Given the description of an element on the screen output the (x, y) to click on. 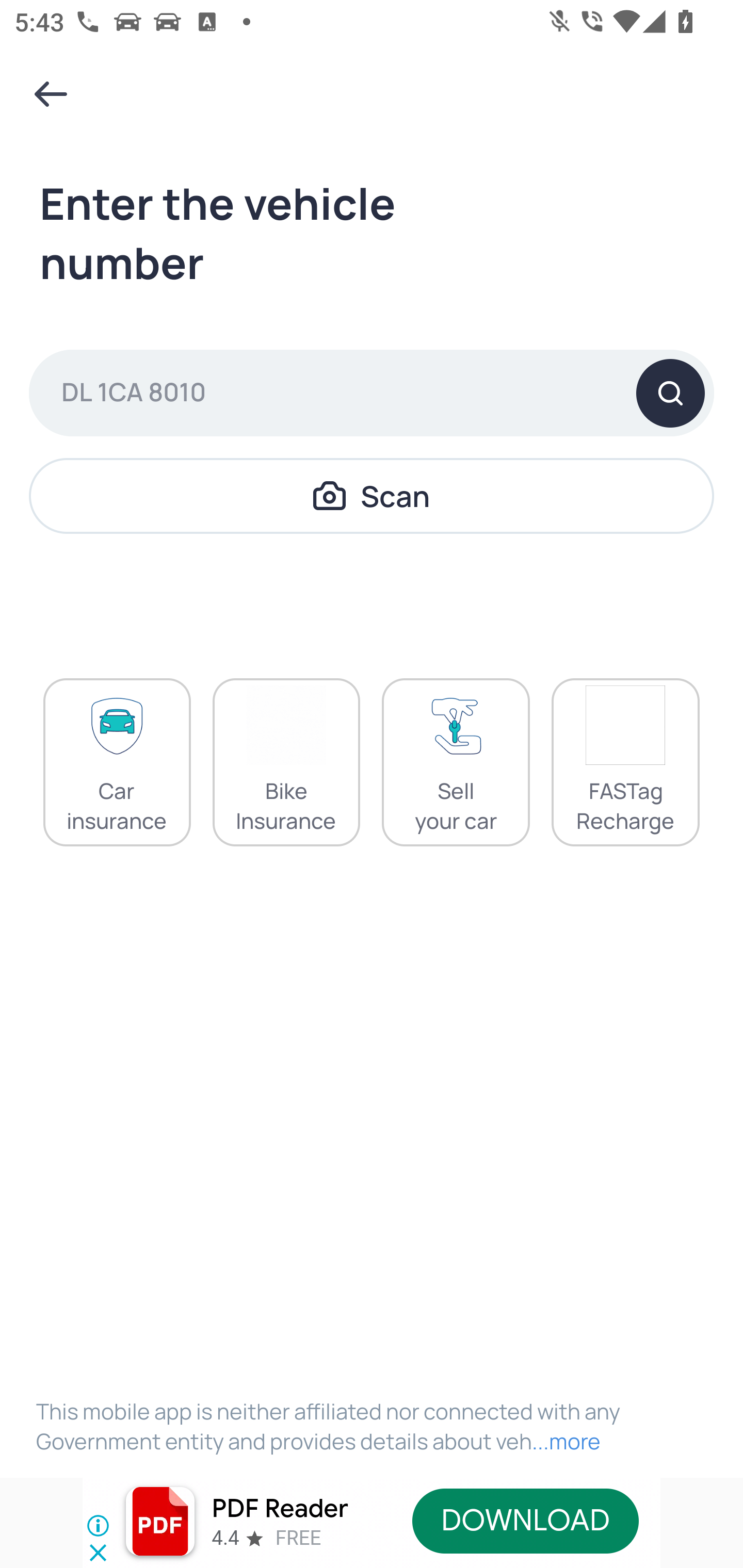
Navigate up (50, 93)
DL 1CA 8010 (371, 392)
Scan (371, 495)
Car
insurance (116, 762)
Bike
Insurance (286, 762)
Sell
your car (455, 762)
FASTag Recharge (625, 762)
DOWNLOAD (524, 1520)
PDF Reader (279, 1508)
4.4 (224, 1537)
FREE (298, 1537)
